Given the description of an element on the screen output the (x, y) to click on. 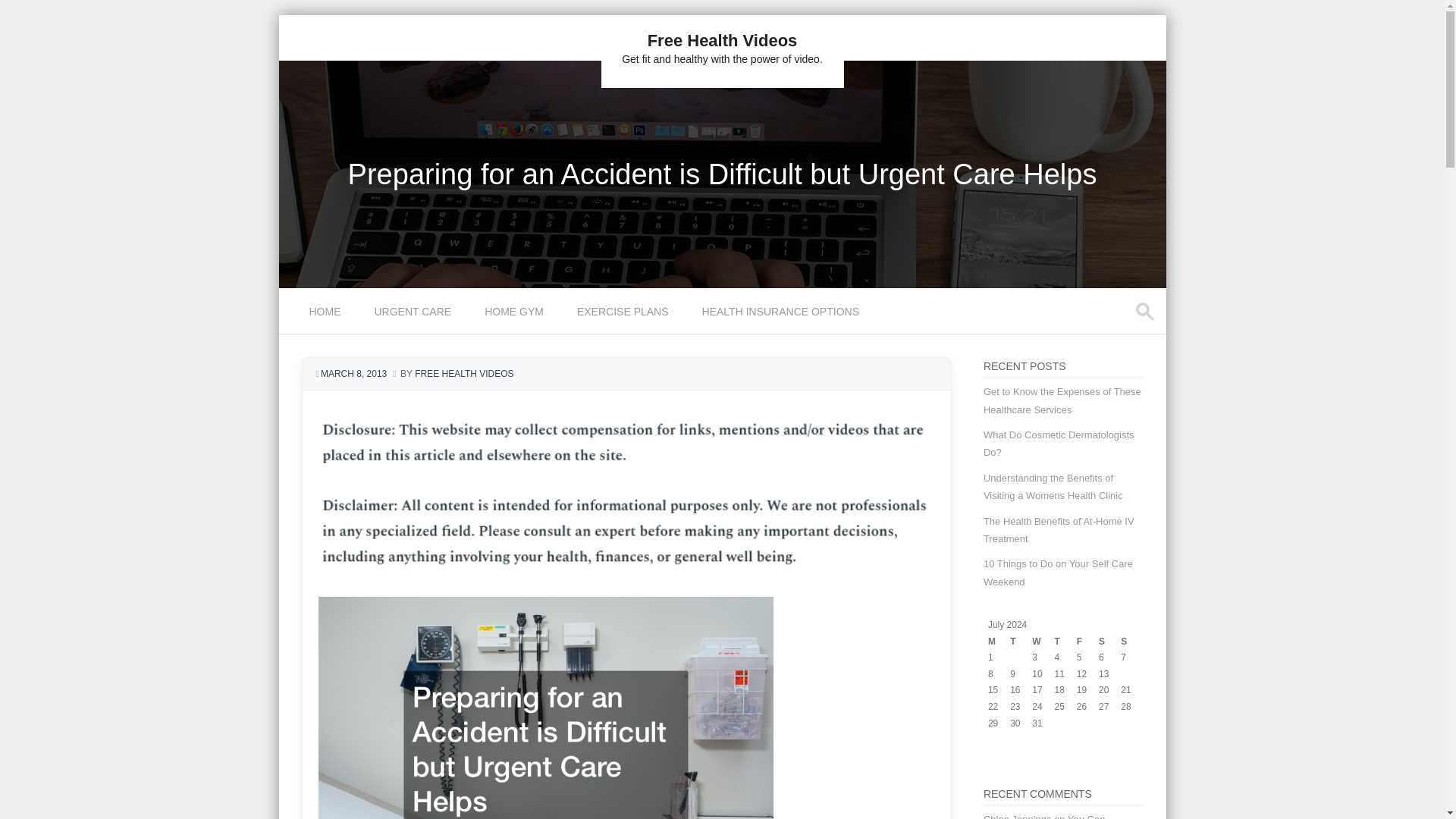
URGENT CARE (414, 310)
Wednesday (1043, 641)
HOME GYM (515, 310)
14 (1126, 674)
Search (26, 14)
Free Health Videos (722, 40)
7:40 pm (354, 373)
Thursday (1065, 641)
Skip to content (314, 297)
View all posts by Free Health Videos (463, 373)
EXERCISE PLANS (624, 310)
Navigation Toggle (305, 320)
Menu (305, 320)
Tuesday (1021, 641)
